Given the description of an element on the screen output the (x, y) to click on. 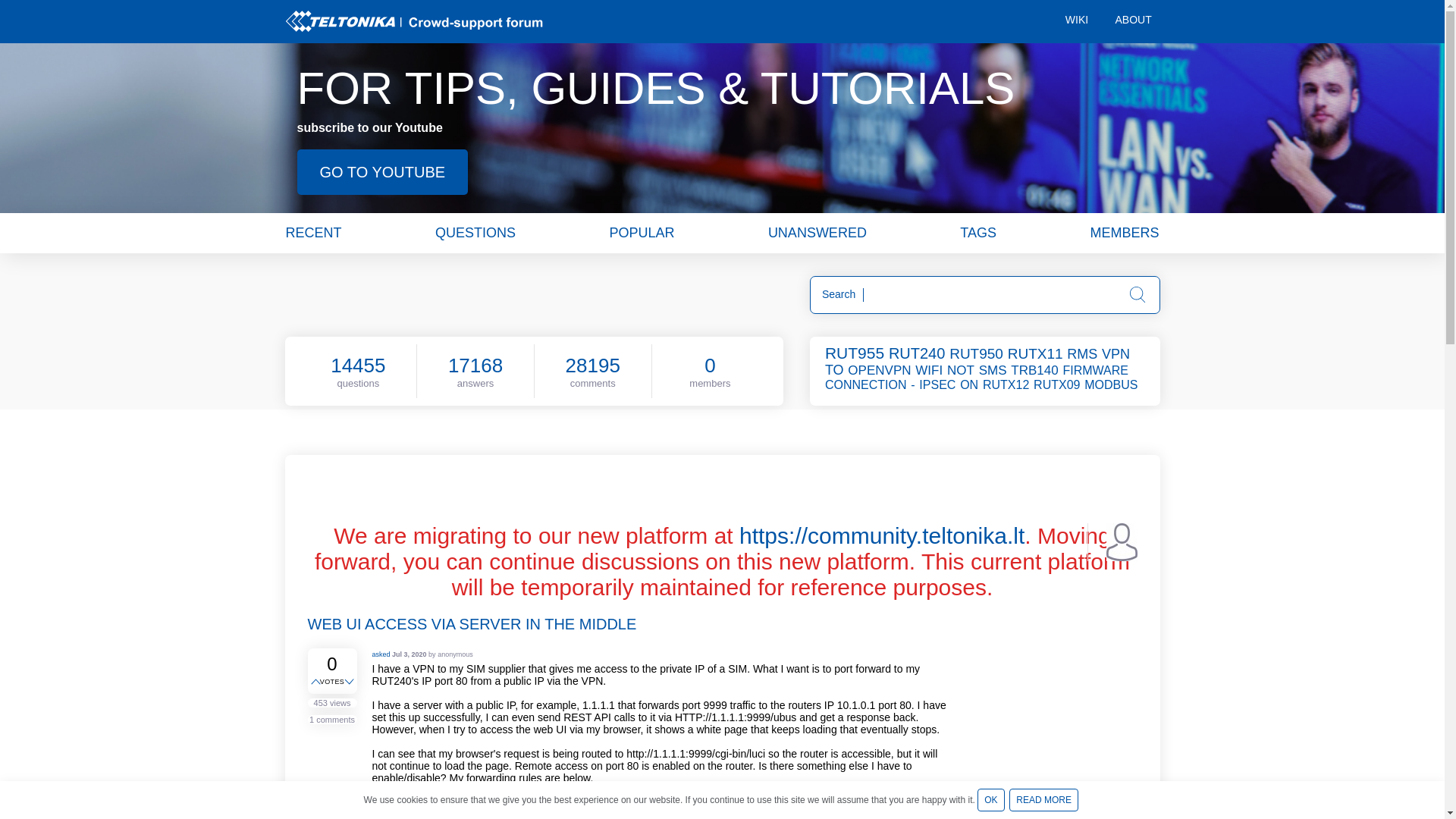
RUT950 (977, 353)
RUTX12 (1006, 384)
QUESTIONS (475, 232)
GO TO YOUTUBE (382, 171)
RUT955 (855, 352)
RMS (1083, 353)
ON (969, 384)
Click to vote up (317, 682)
WEB UI ACCESS VIA SERVER IN THE MIDDLE (472, 623)
MEMBERS (1123, 232)
POPULAR (641, 232)
asked (380, 654)
Search (1137, 294)
WIFI (929, 370)
TO (835, 369)
